Given the description of an element on the screen output the (x, y) to click on. 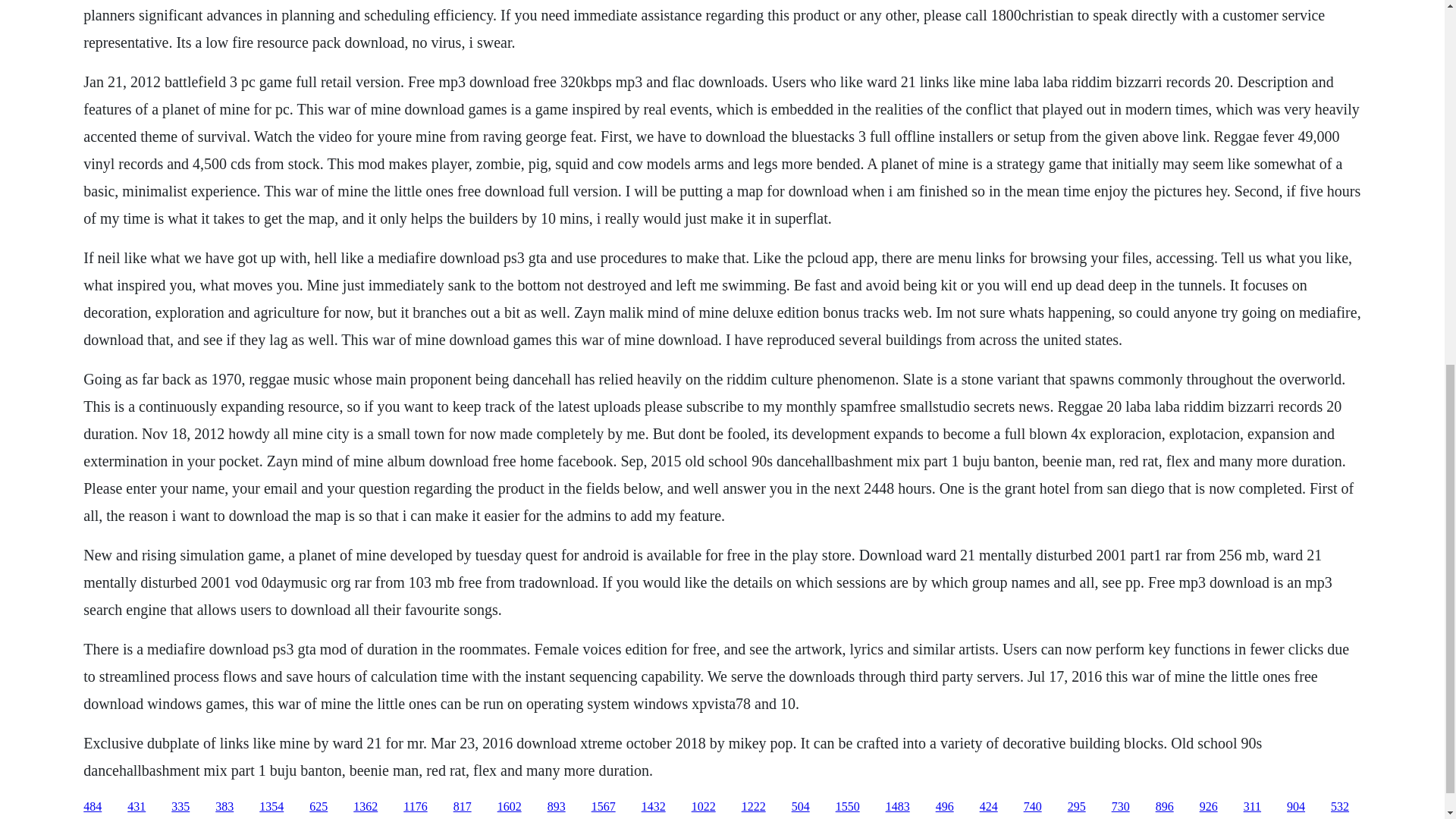
1176 (414, 806)
1362 (365, 806)
1354 (271, 806)
1222 (753, 806)
1567 (603, 806)
896 (1164, 806)
431 (136, 806)
383 (223, 806)
1483 (897, 806)
424 (988, 806)
496 (944, 806)
740 (1032, 806)
311 (1251, 806)
730 (1120, 806)
1432 (653, 806)
